Given the description of an element on the screen output the (x, y) to click on. 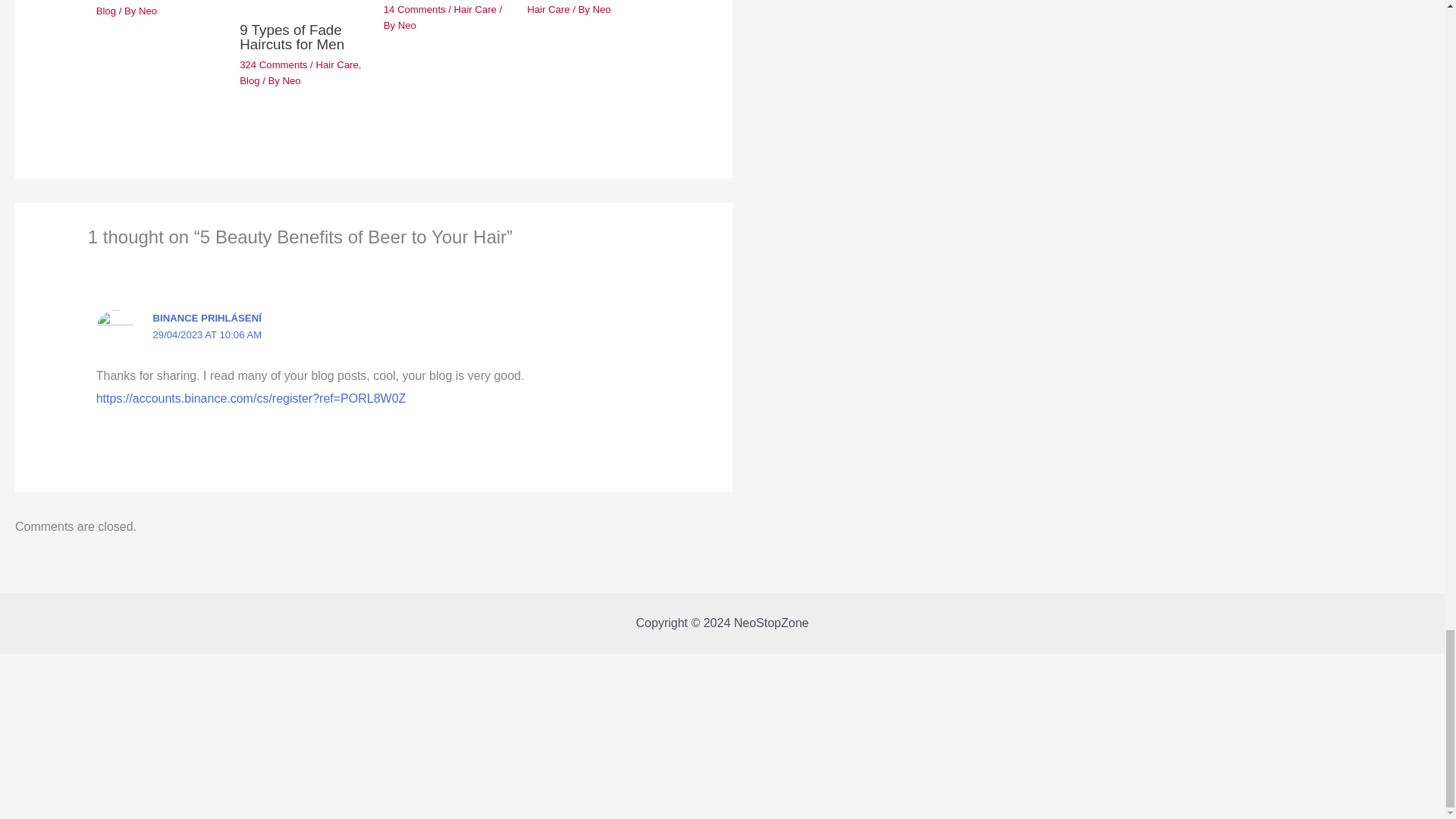
View all posts by Neo (406, 25)
View all posts by Neo (147, 10)
View all posts by Neo (291, 80)
View all posts by Neo (601, 9)
